Given the description of an element on the screen output the (x, y) to click on. 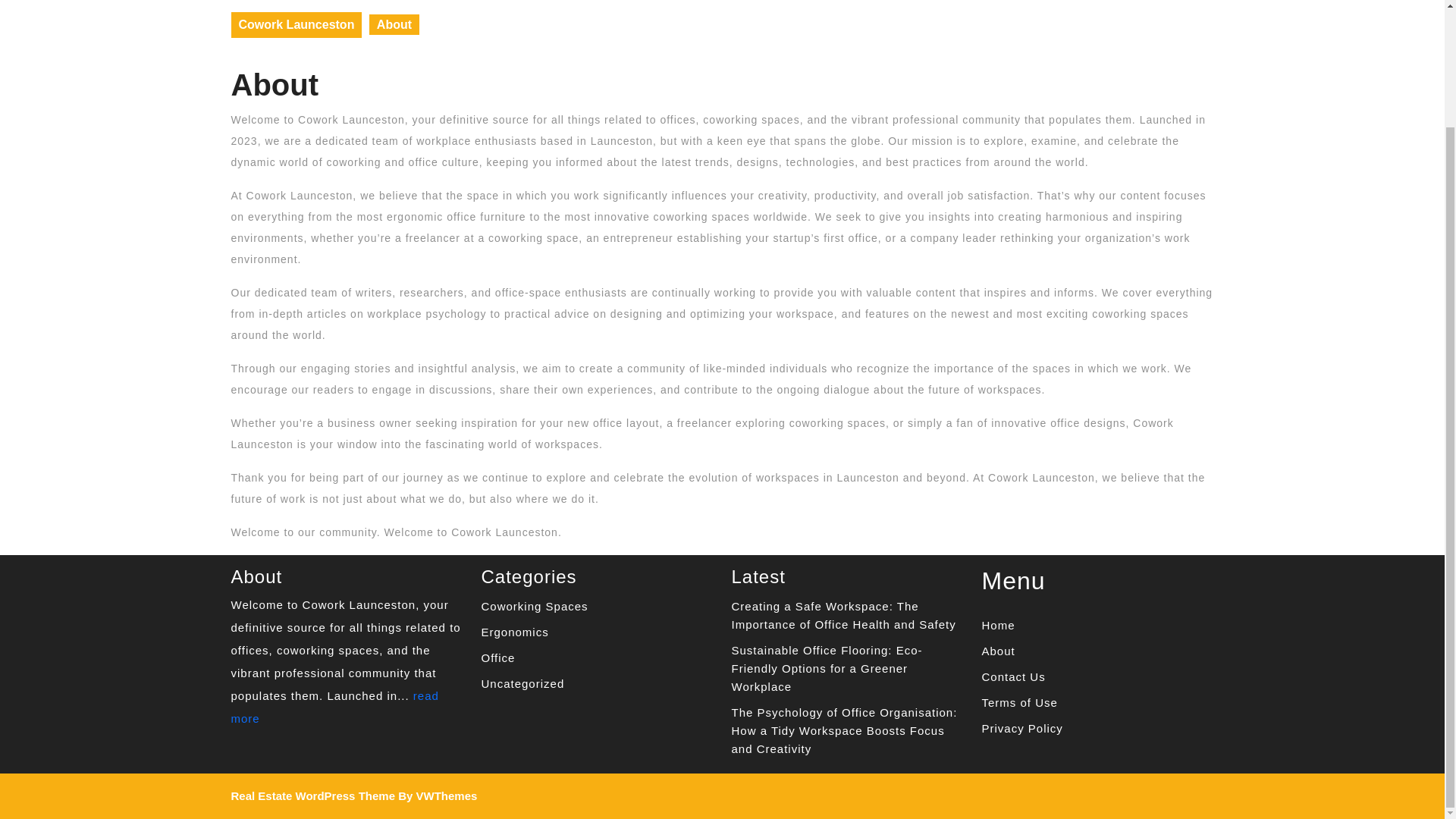
Home (997, 625)
Real Estate WordPress Theme (312, 795)
About (997, 650)
Privacy Policy (1021, 727)
Contact Us (1013, 676)
Ergonomics (514, 631)
Uncategorized (522, 683)
Cowork Launceston (295, 24)
Coworking Spaces (534, 605)
Office (497, 657)
read more (334, 706)
Terms of Use (1019, 702)
